Given the description of an element on the screen output the (x, y) to click on. 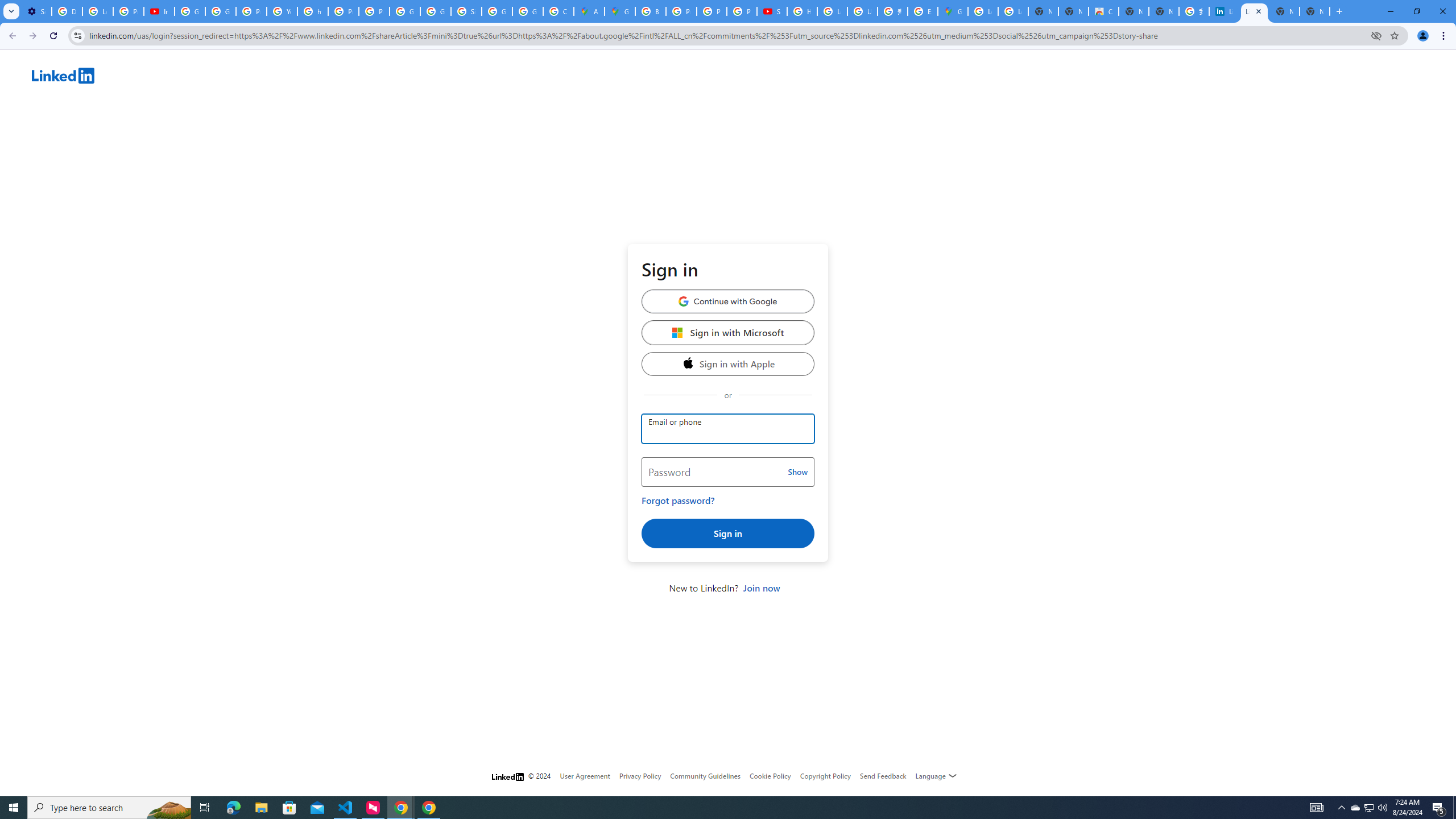
Forgot password? (678, 500)
Delete photos & videos - Computer - Google Photos Help (66, 11)
Create your Google Account (558, 11)
Settings - Customize profile (36, 11)
Introduction | Google Privacy Policy - YouTube (158, 11)
Privacy Help Center - Policies Help (343, 11)
AutomationID: feedback-request (882, 775)
